Given the description of an element on the screen output the (x, y) to click on. 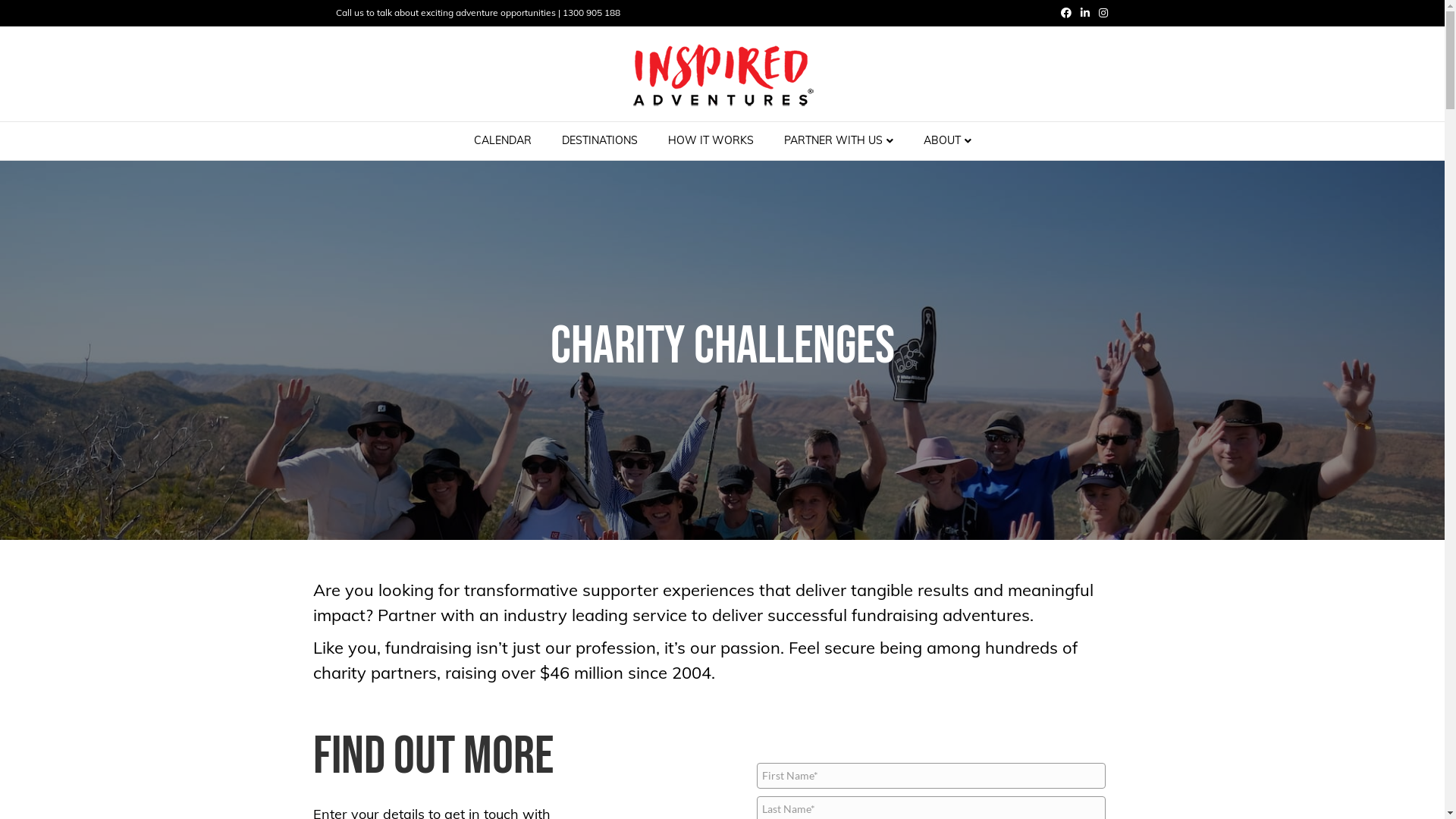
DESTINATIONS Element type: text (598, 141)
PARTNER WITH US Element type: text (838, 141)
CALENDAR Element type: text (501, 141)
Linkedin Element type: text (1079, 11)
ABOUT Element type: text (947, 141)
Facebook Element type: text (1061, 11)
HOW IT WORKS Element type: text (709, 141)
Instagram Element type: text (1097, 11)
